Given the description of an element on the screen output the (x, y) to click on. 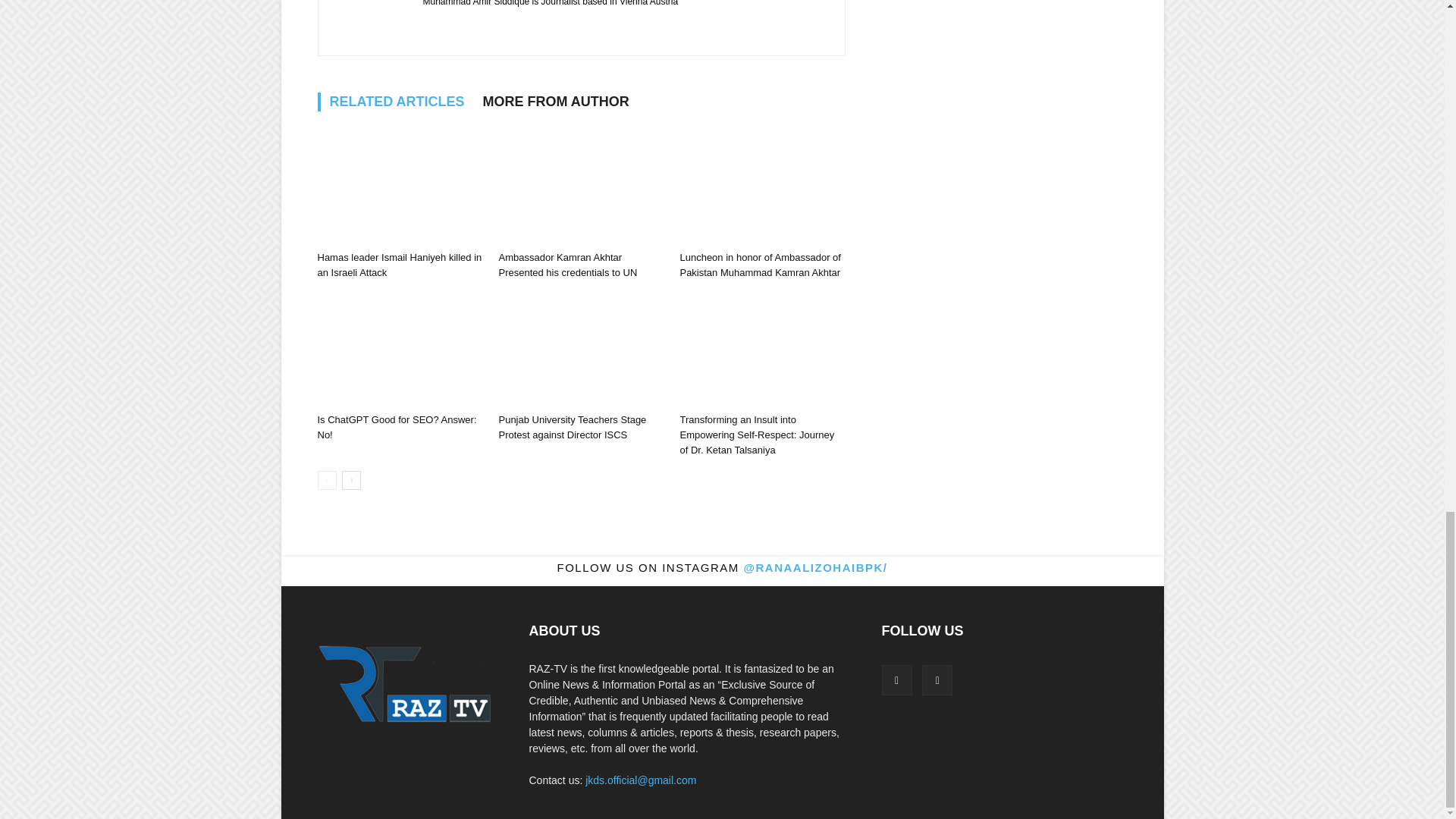
Hamas leader Ismail Haniyeh killed in an Israeli Attack (761, 164)
Ambassador Kamran Akhtar Met with President OPEC Fund (398, 242)
Ambassador Kamran Akhtar Met with President OPEC Fund (399, 164)
